Given the description of an element on the screen output the (x, y) to click on. 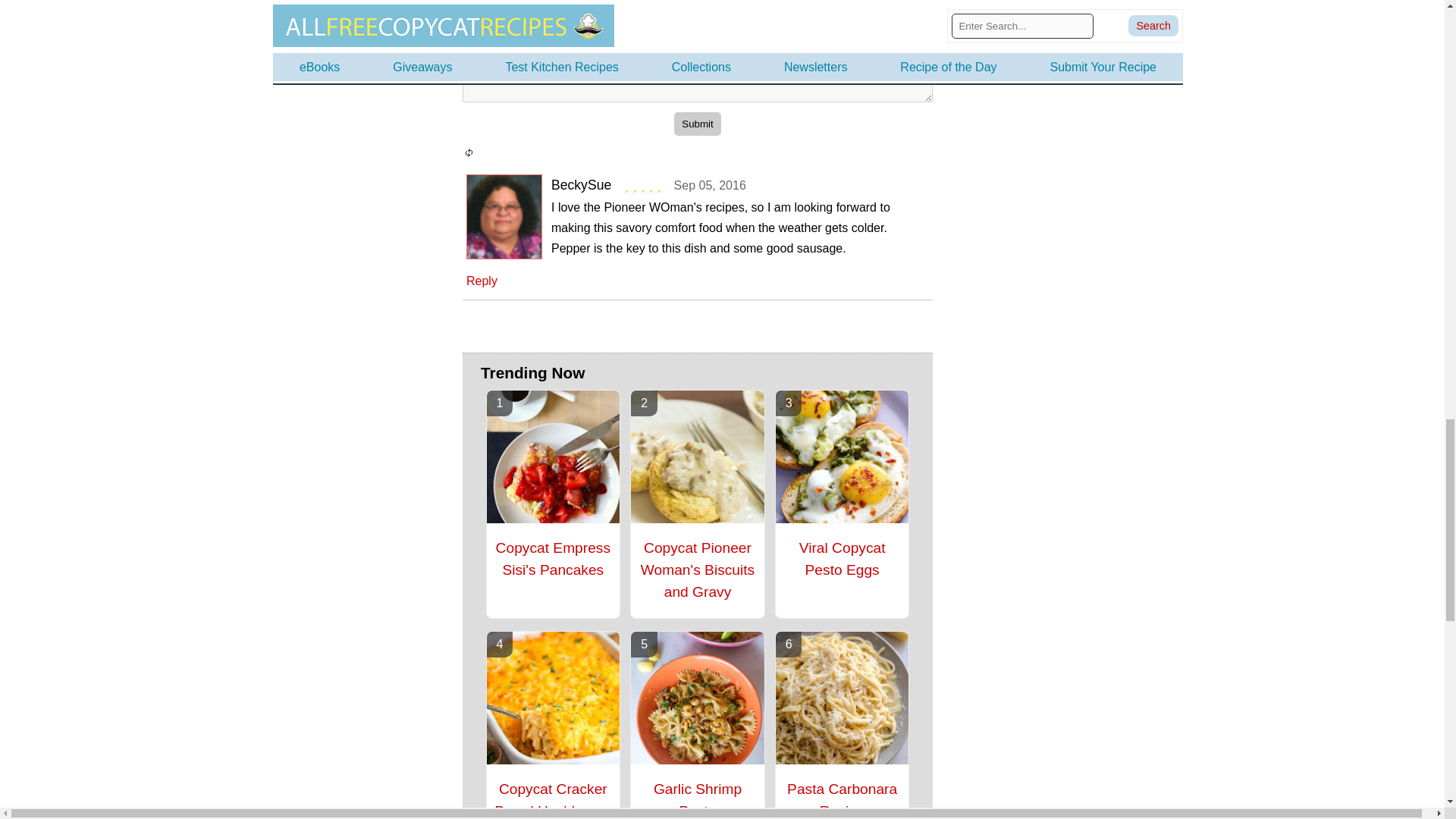
Submit (697, 123)
1 (470, 8)
